Given the description of an element on the screen output the (x, y) to click on. 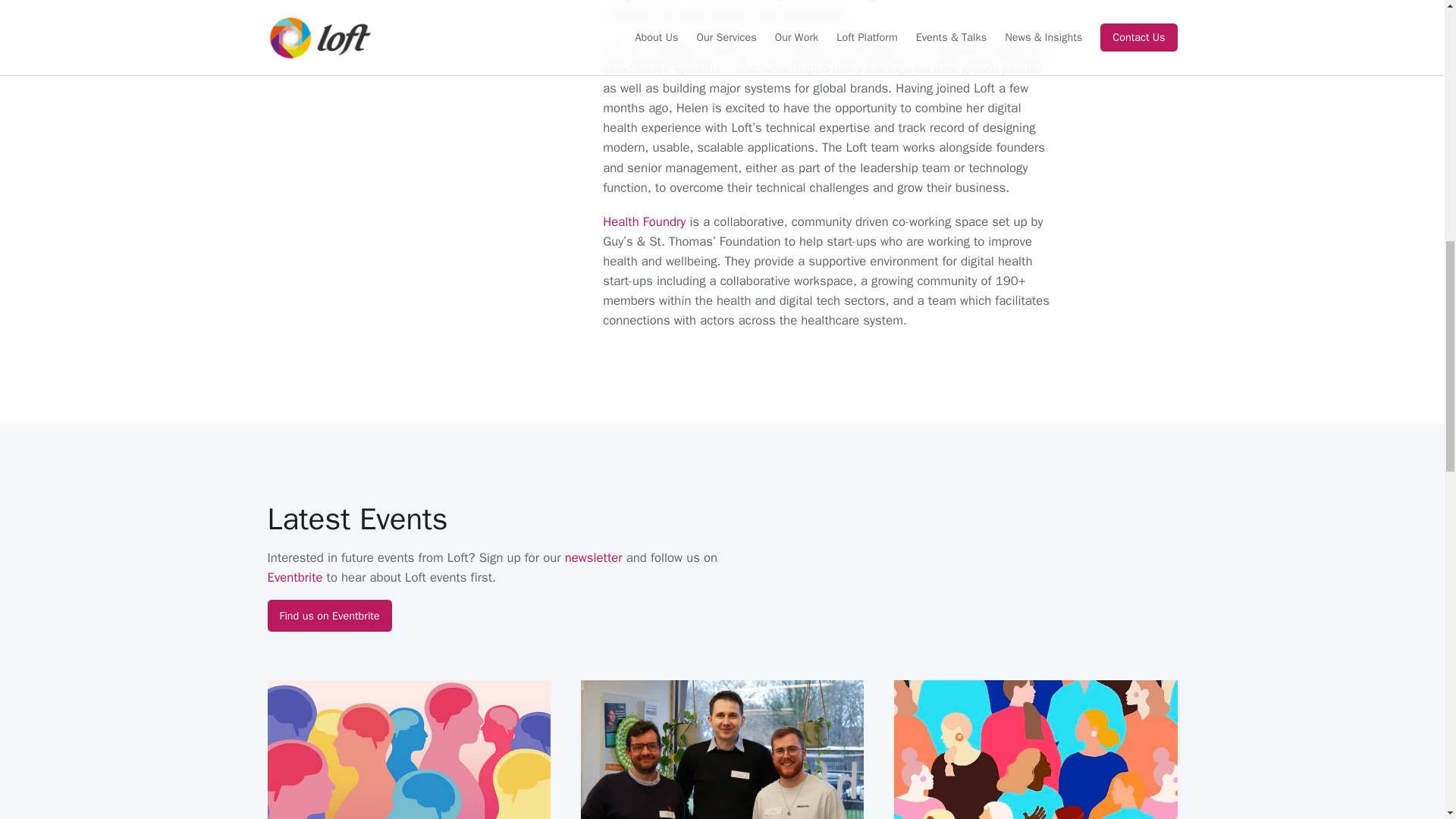
Eventbrite (293, 577)
Find us on Eventbrite (328, 615)
newsletter (593, 557)
Health Foundry (643, 221)
Loft (613, 48)
